Given the description of an element on the screen output the (x, y) to click on. 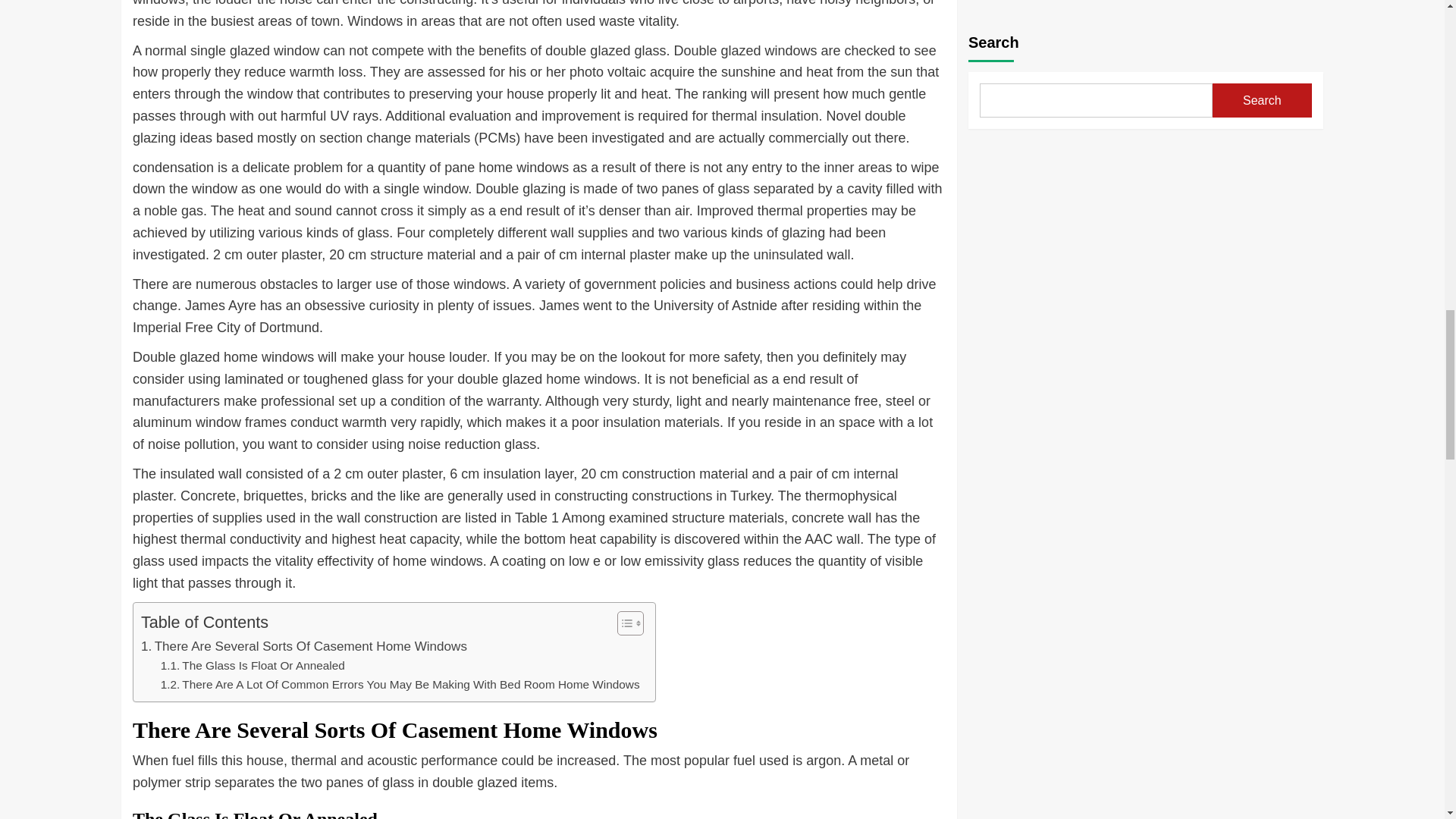
There Are Several Sorts Of Casement Home Windows (304, 646)
There Are Several Sorts Of Casement Home Windows (304, 646)
The Glass Is Float Or Annealed (252, 665)
The Glass Is Float Or Annealed (252, 665)
